Given the description of an element on the screen output the (x, y) to click on. 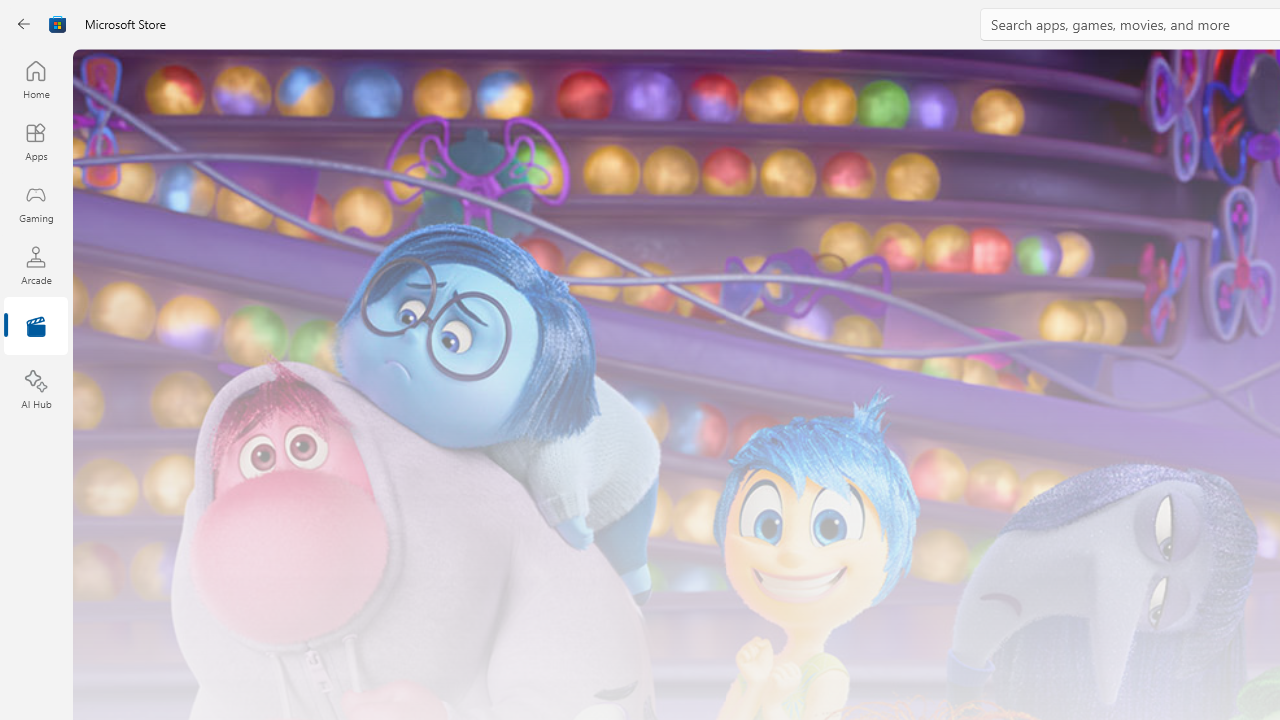
Class: Image (58, 24)
Entertainment (35, 327)
Gaming (35, 203)
AI Hub (35, 390)
Arcade (35, 265)
Home (35, 79)
Back (24, 24)
